Given the description of an element on the screen output the (x, y) to click on. 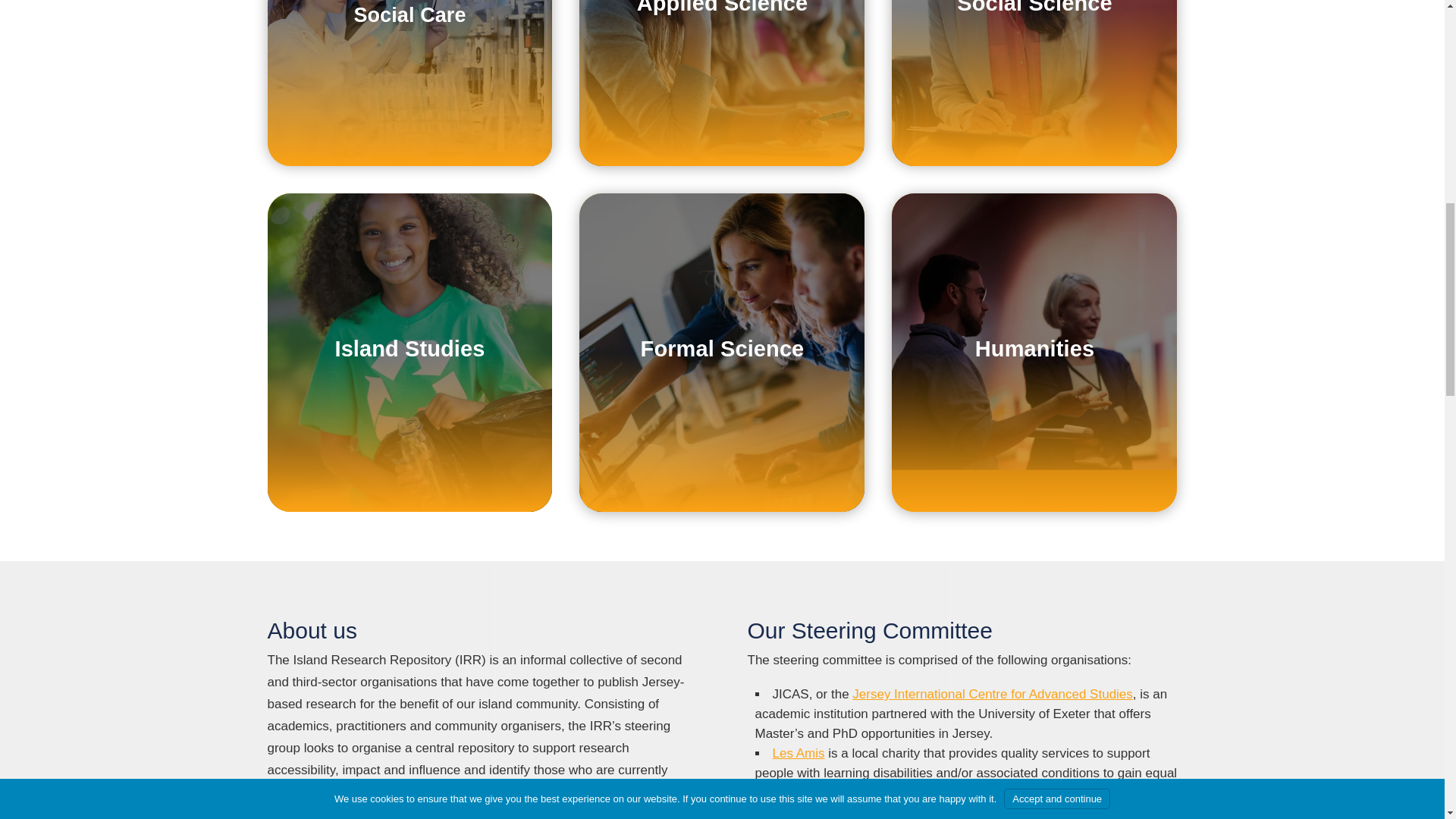
Jersey International Centre for Advanced Studies (991, 694)
Les Amis (797, 753)
Mind Jersey (806, 812)
